Given the description of an element on the screen output the (x, y) to click on. 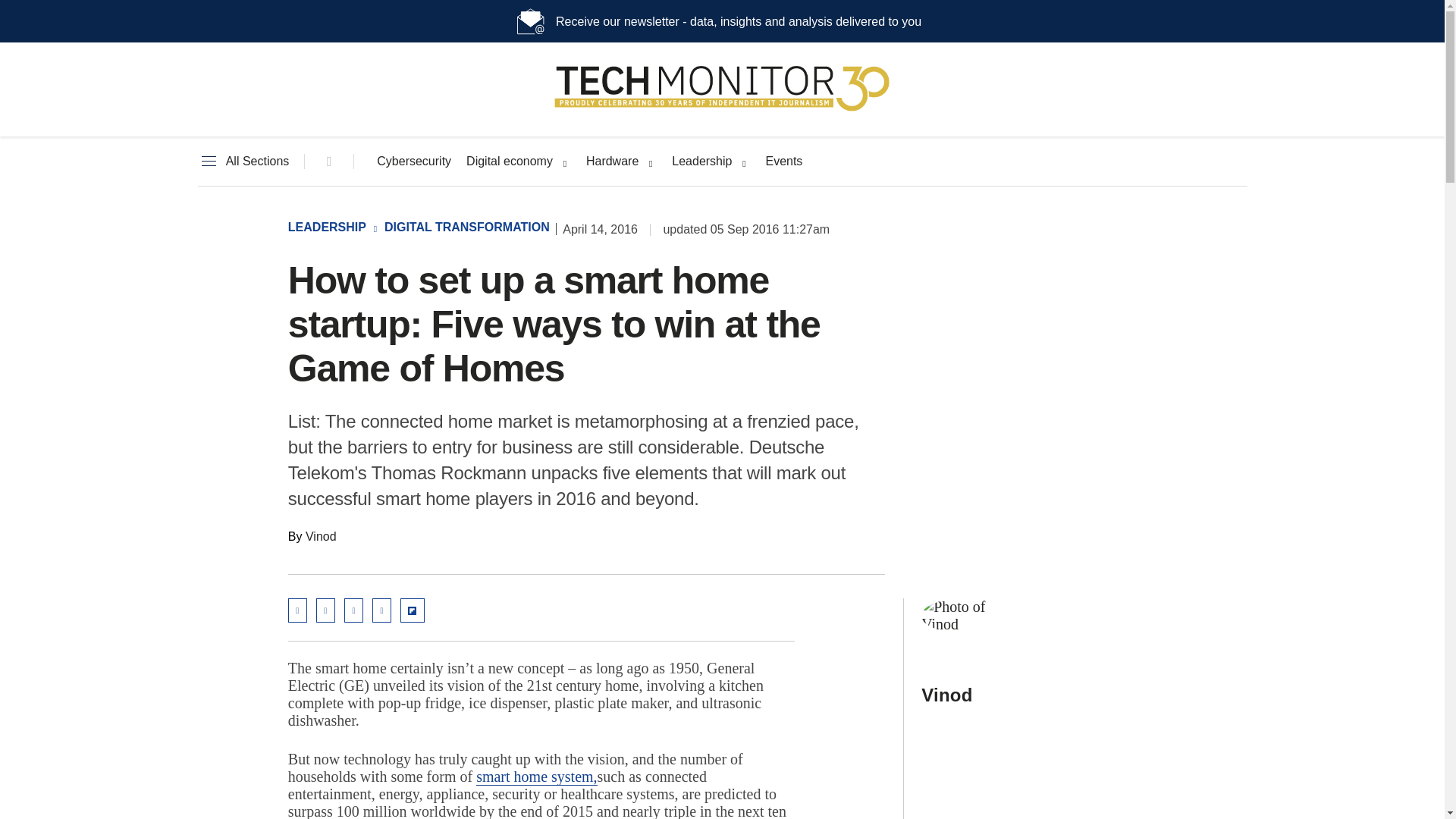
Digital economy (509, 161)
Events (783, 161)
Share on Flipboard (412, 610)
Cybersecurity (414, 161)
Tech Monitor (722, 110)
Leadership (701, 161)
Hardware (612, 161)
All Sections (242, 161)
